Given the description of an element on the screen output the (x, y) to click on. 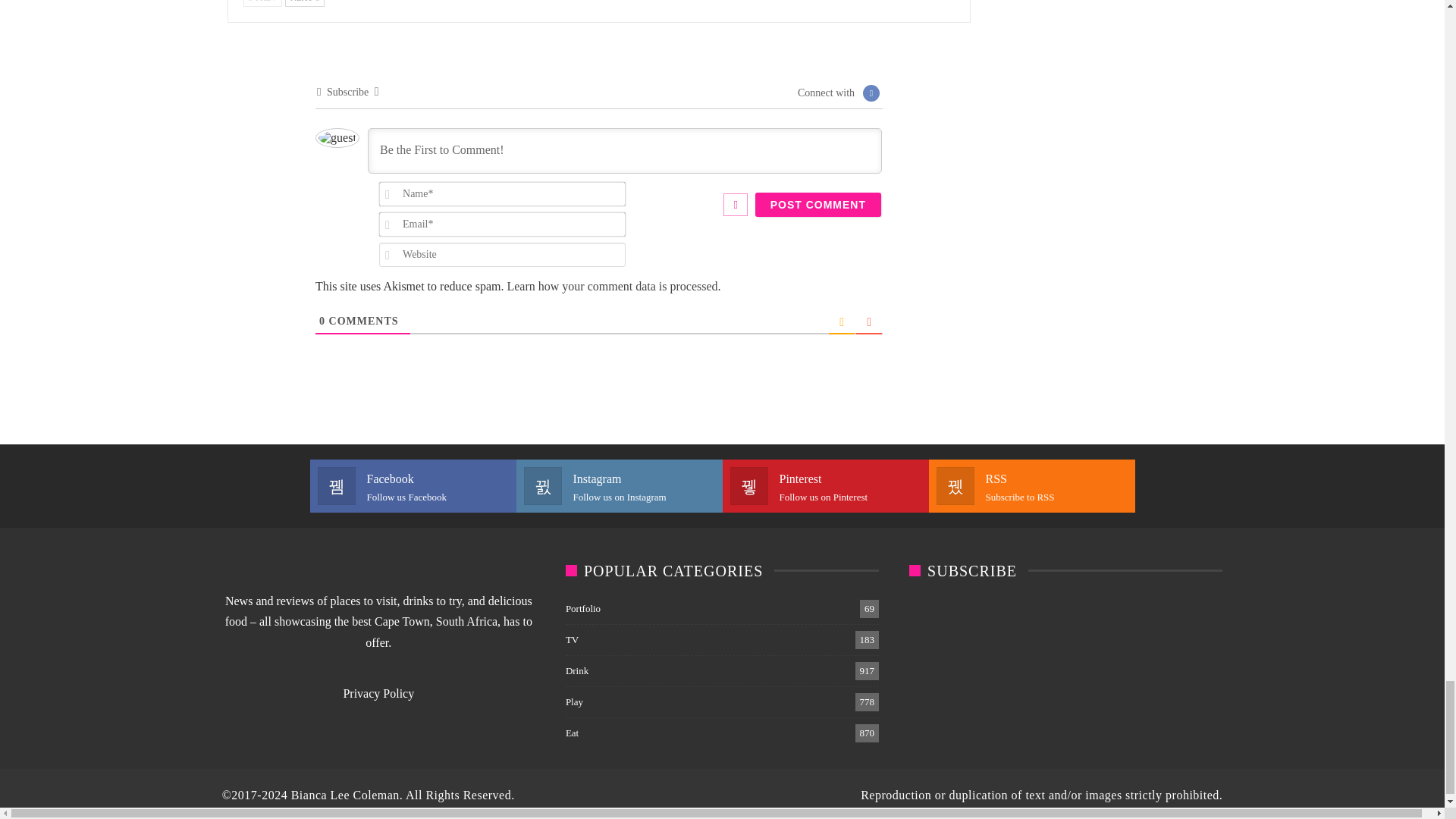
Post Comment (817, 204)
Next (304, 3)
Previous (262, 3)
